Given the description of an element on the screen output the (x, y) to click on. 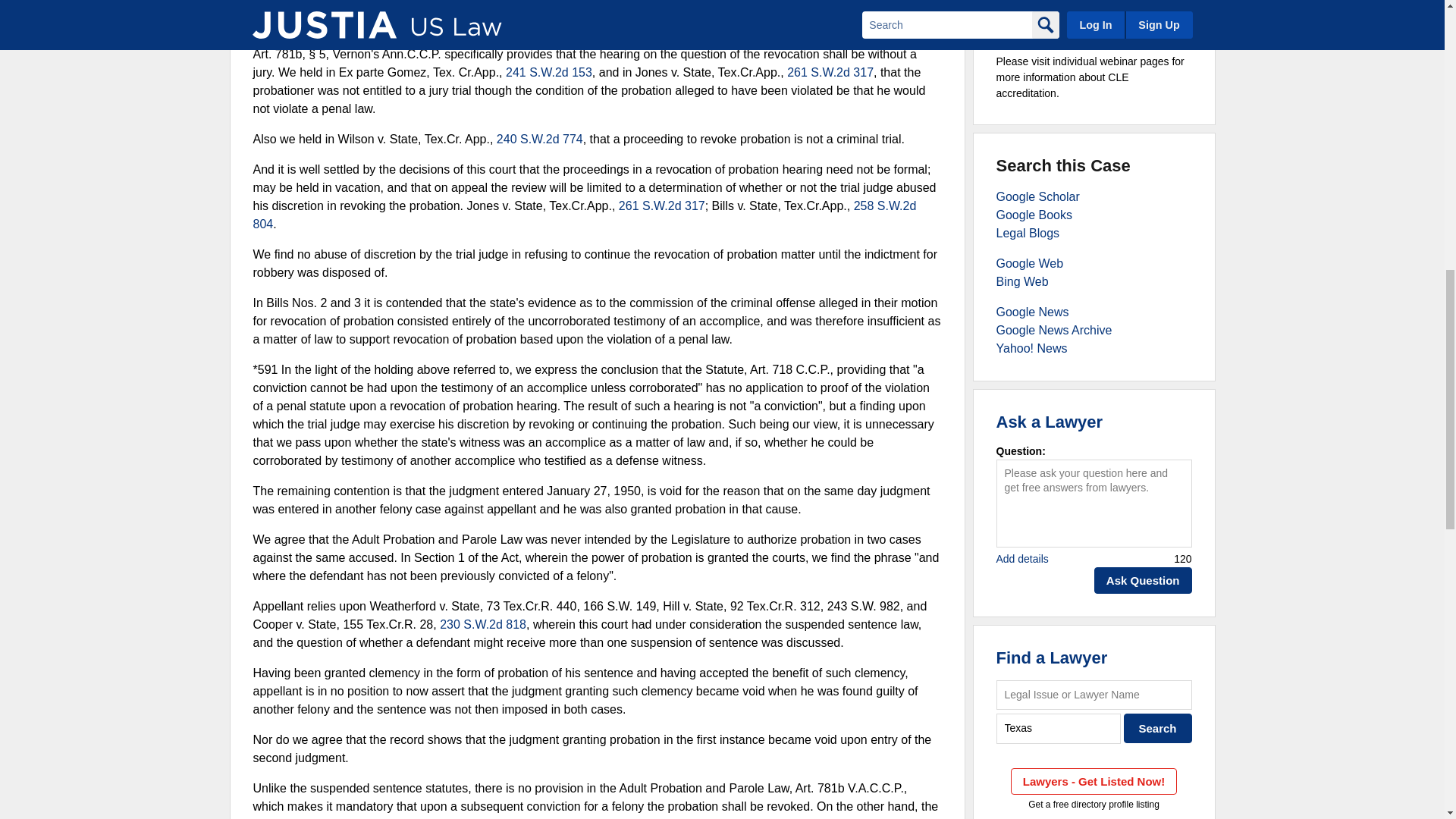
Law - Google News (1031, 311)
Law - Google Books (1034, 214)
Search (1158, 727)
Law - Bing Web (1021, 281)
Texas (1058, 727)
241 S.W.2d 153 (548, 72)
Legal Issue or Lawyer Name (1093, 695)
Law - Google News Archive (1053, 329)
230 S.W.2d 818 (482, 624)
Search (1158, 727)
Law - Google Scholar (1037, 196)
240 S.W.2d 774 (539, 138)
261 S.W.2d 317 (661, 205)
Law - Google Web (1029, 263)
